Given the description of an element on the screen output the (x, y) to click on. 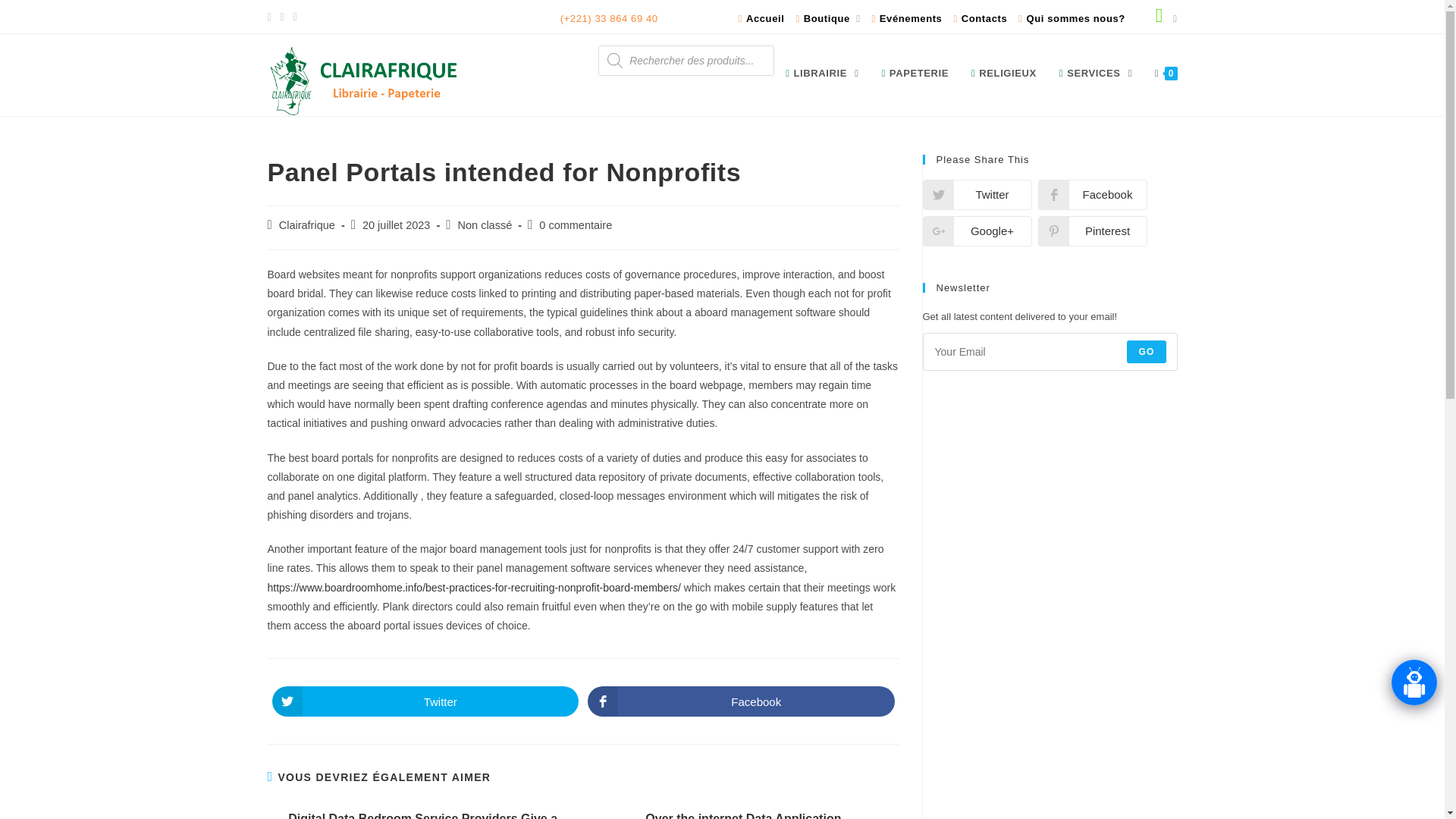
Qui sommes nous? (1071, 18)
Partager sur Pinterest (1091, 231)
Partager sur Facebook (1091, 194)
SERVICES (1095, 73)
Contacts (980, 18)
Over the internet Data Application (742, 814)
Boutique (827, 18)
Articles par Clairafrique (306, 224)
RELIGIEUX (1003, 73)
Partager sur Twitter (975, 194)
LIBRAIRIE (821, 73)
PAPETERIE (914, 73)
Accueil (761, 18)
